Given the description of an element on the screen output the (x, y) to click on. 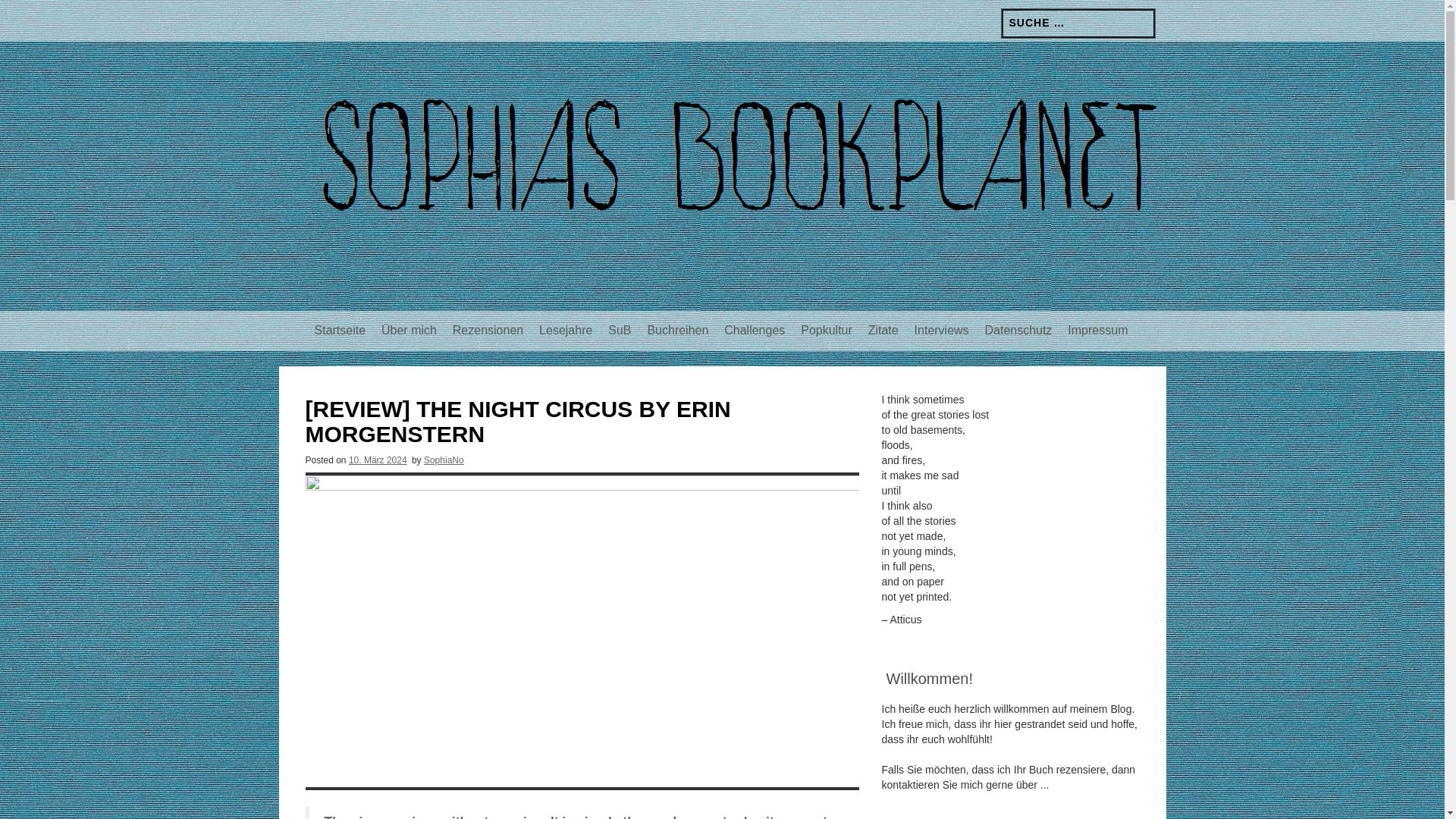
Interviews (941, 331)
Rezensionen (488, 331)
SophiaNo (443, 460)
Popkultur (826, 331)
Datenschutz (1017, 331)
Challenges (754, 331)
Zitate (882, 331)
SuB (619, 331)
Suche (22, 9)
Startseite (340, 331)
Buchreihen (677, 331)
Lesejahre (565, 331)
Impressum (1097, 331)
